Given the description of an element on the screen output the (x, y) to click on. 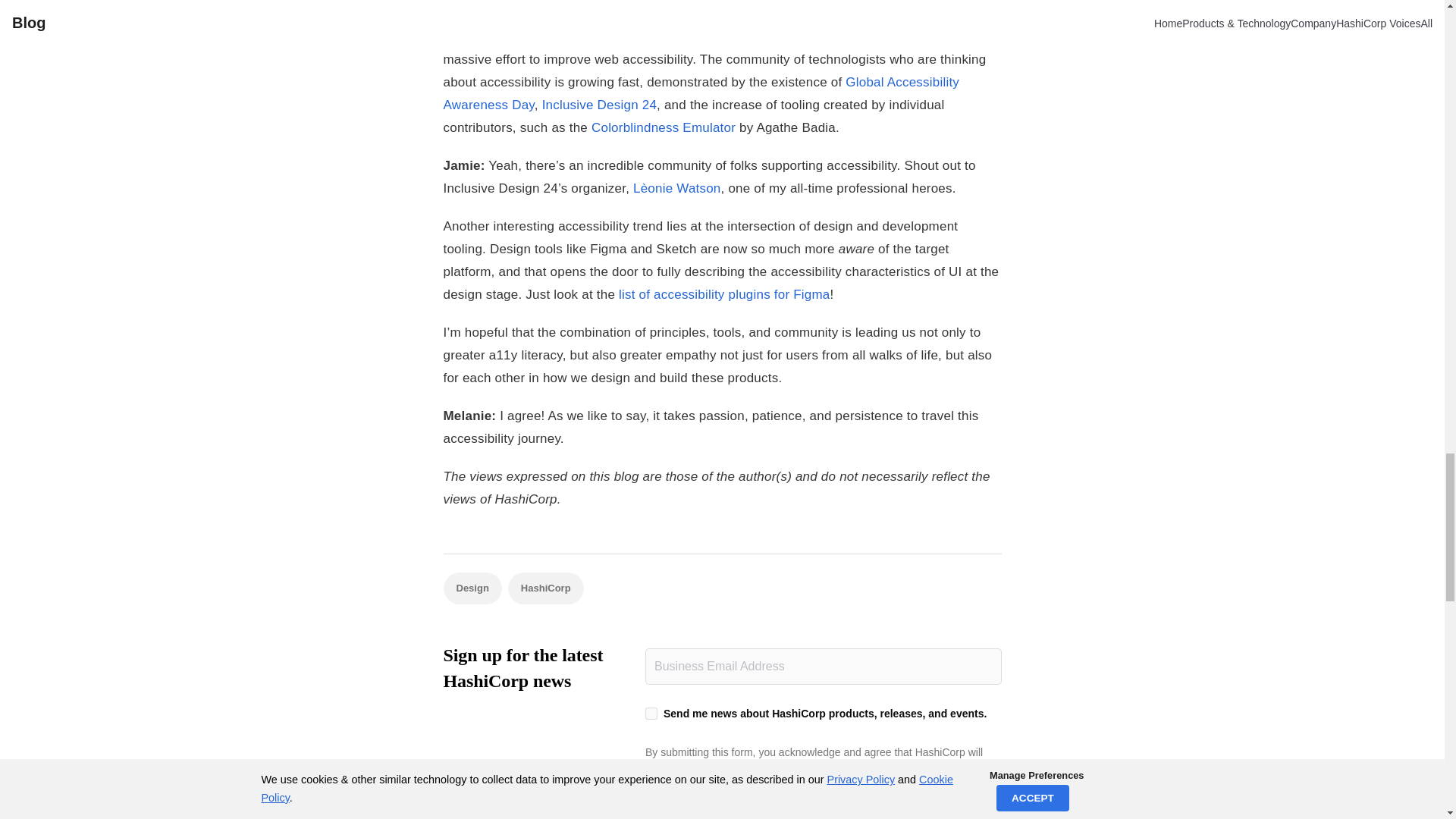
on (651, 713)
